Given the description of an element on the screen output the (x, y) to click on. 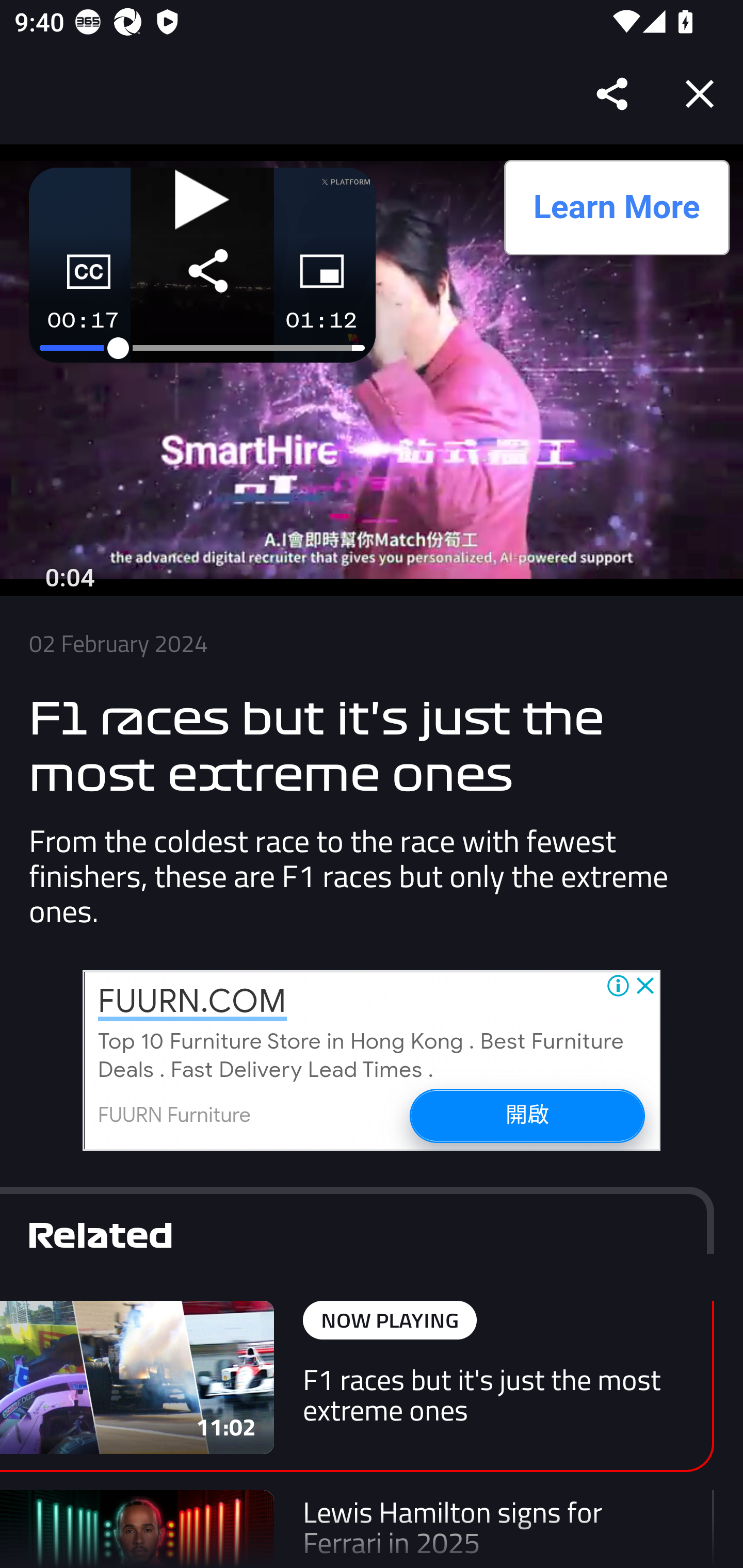
Share (612, 93)
Close (699, 93)
Learn More (616, 206)
0:04 (70, 577)
FUURN.COM (192, 1001)
開啟 (526, 1114)
FUURN Furniture (174, 1115)
Lewis Hamilton signs for Ferrari in 2025 (357, 1528)
